Given the description of an element on the screen output the (x, y) to click on. 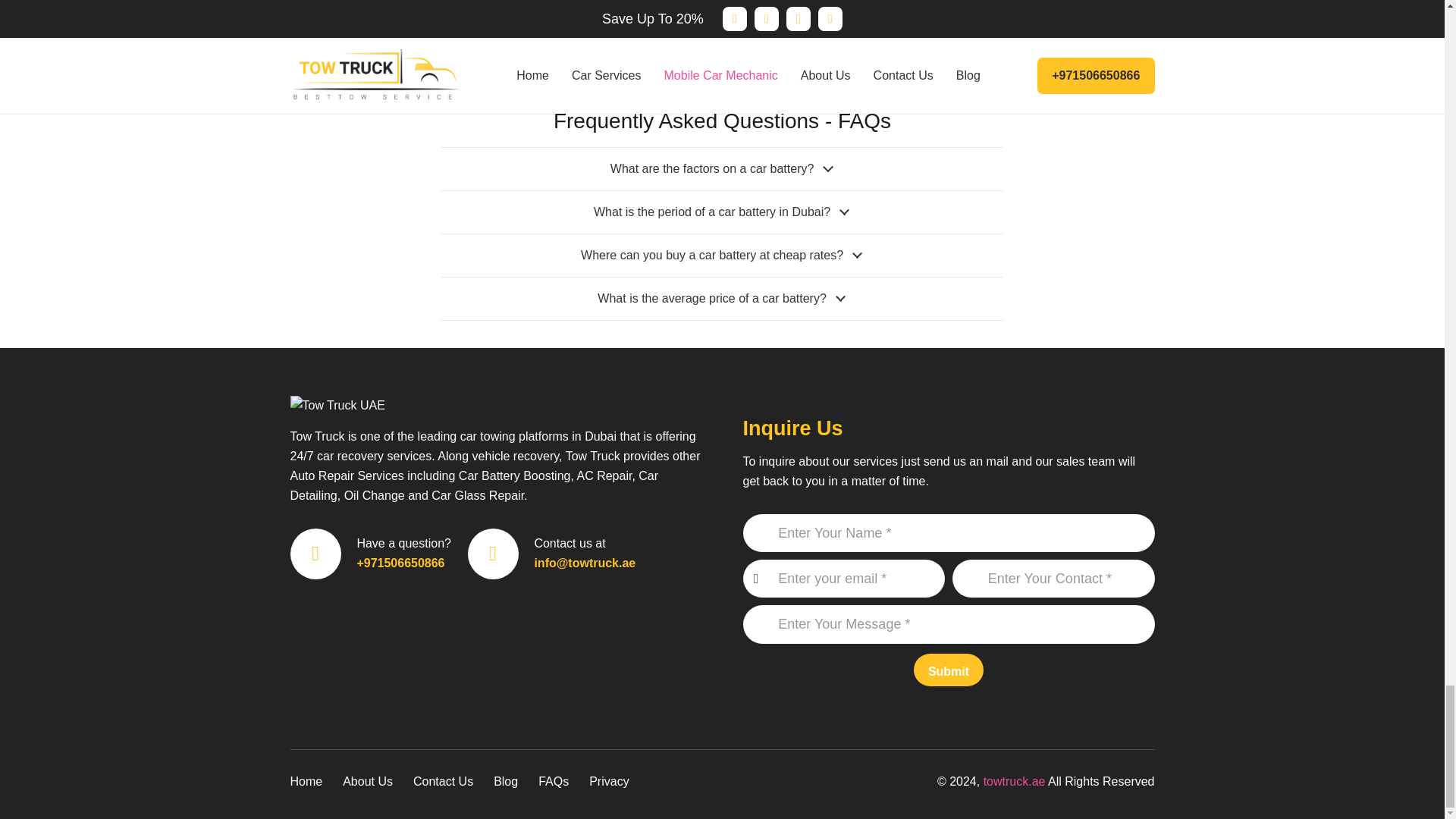
Where can you buy a car battery at cheap rates? (722, 255)
What are the factors on a car battery? (722, 169)
What is the period of a car battery in Dubai? (722, 211)
Home (305, 780)
What is the average price of a car battery? (722, 298)
Submit (949, 669)
Submit (1092, 6)
